Given the description of an element on the screen output the (x, y) to click on. 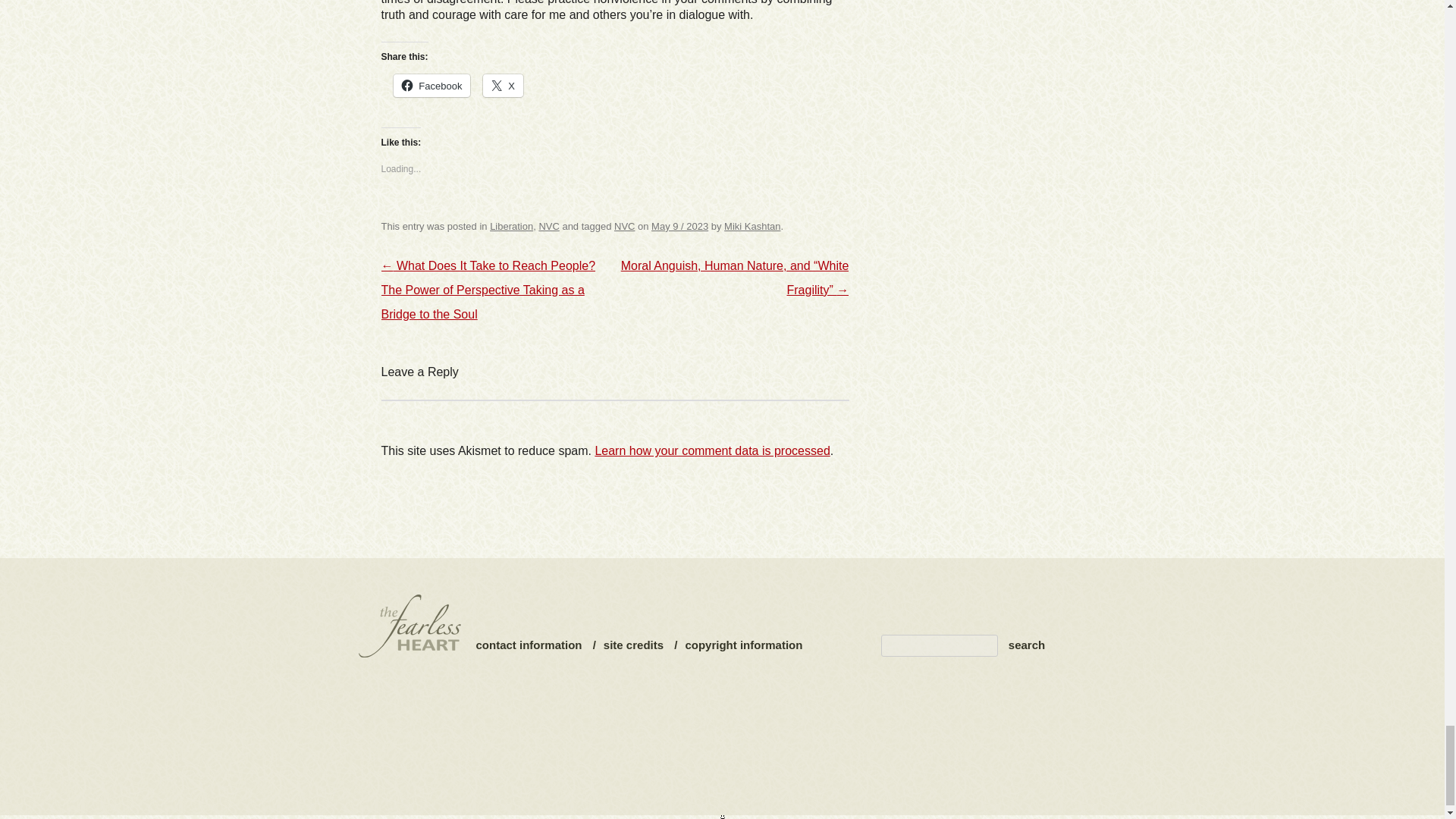
Search (1026, 644)
Click to share on Facebook (431, 85)
View all posts by Miki Kashtan (751, 225)
1:27 pm (678, 225)
Click to share on X (502, 85)
